Given the description of an element on the screen output the (x, y) to click on. 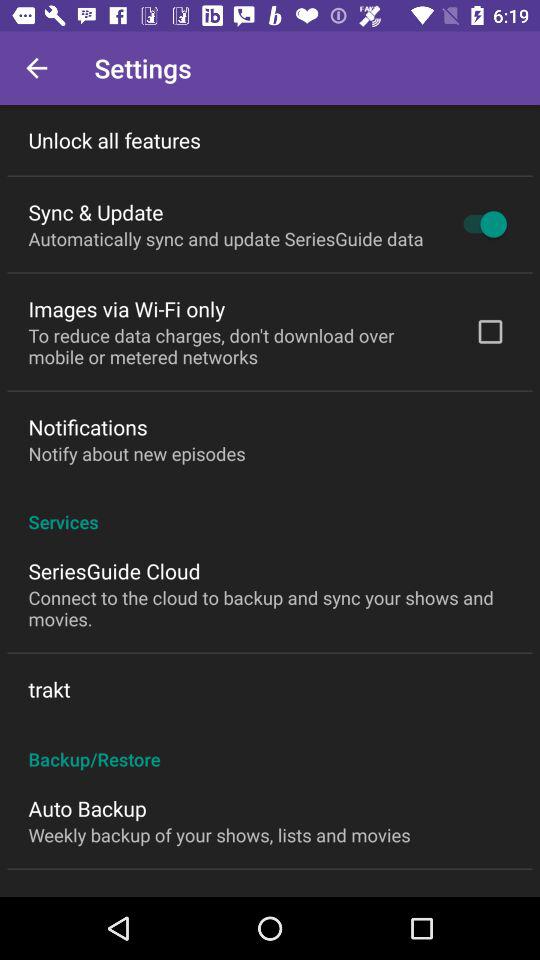
open notifications item (87, 426)
